Given the description of an element on the screen output the (x, y) to click on. 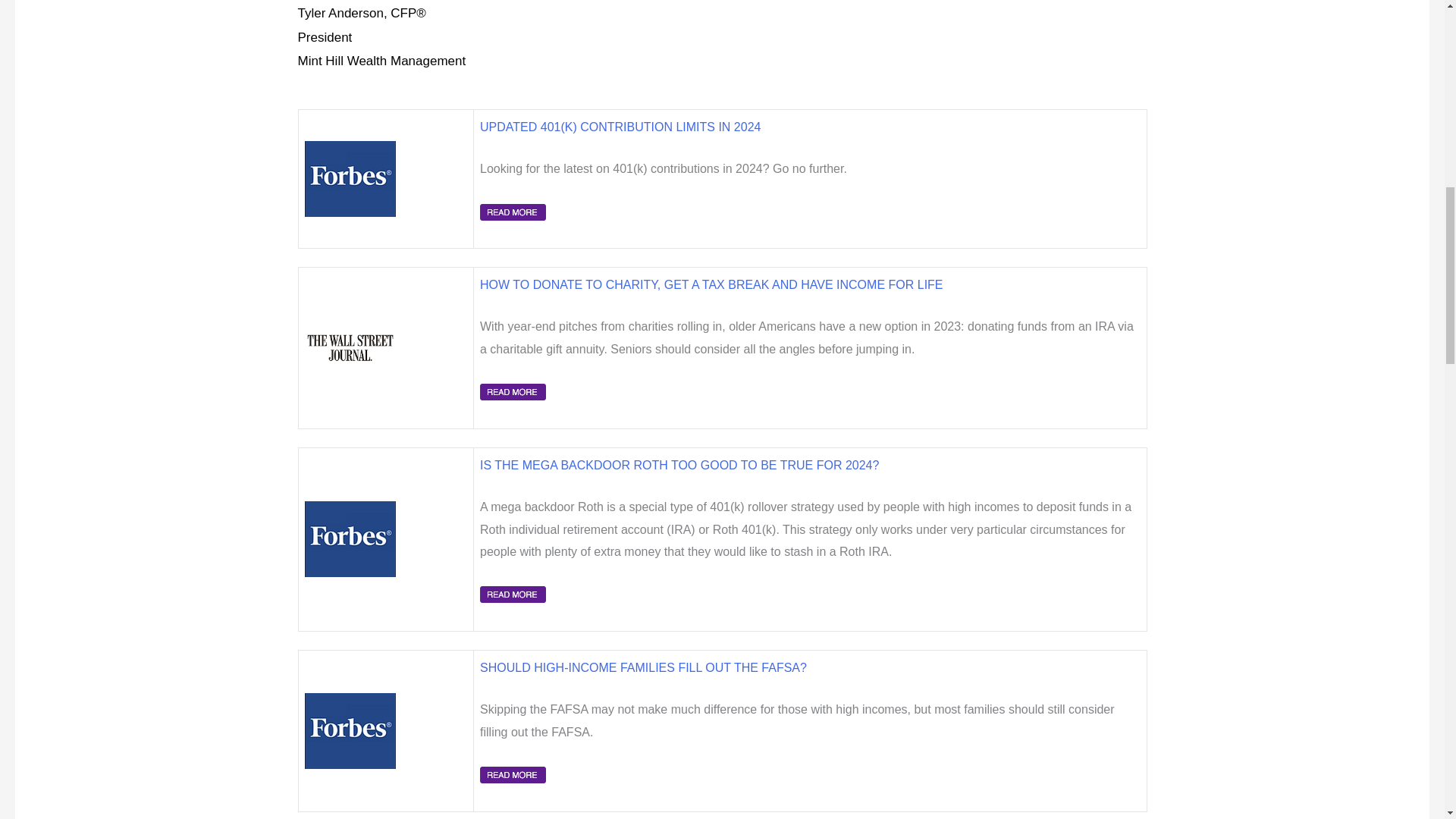
SHOULD HIGH-INCOME FAMILIES FILL OUT THE FAFSA? (643, 667)
IS THE MEGA BACKDOOR ROTH TOO GOOD TO BE TRUE FOR 2024? (679, 464)
